Given the description of an element on the screen output the (x, y) to click on. 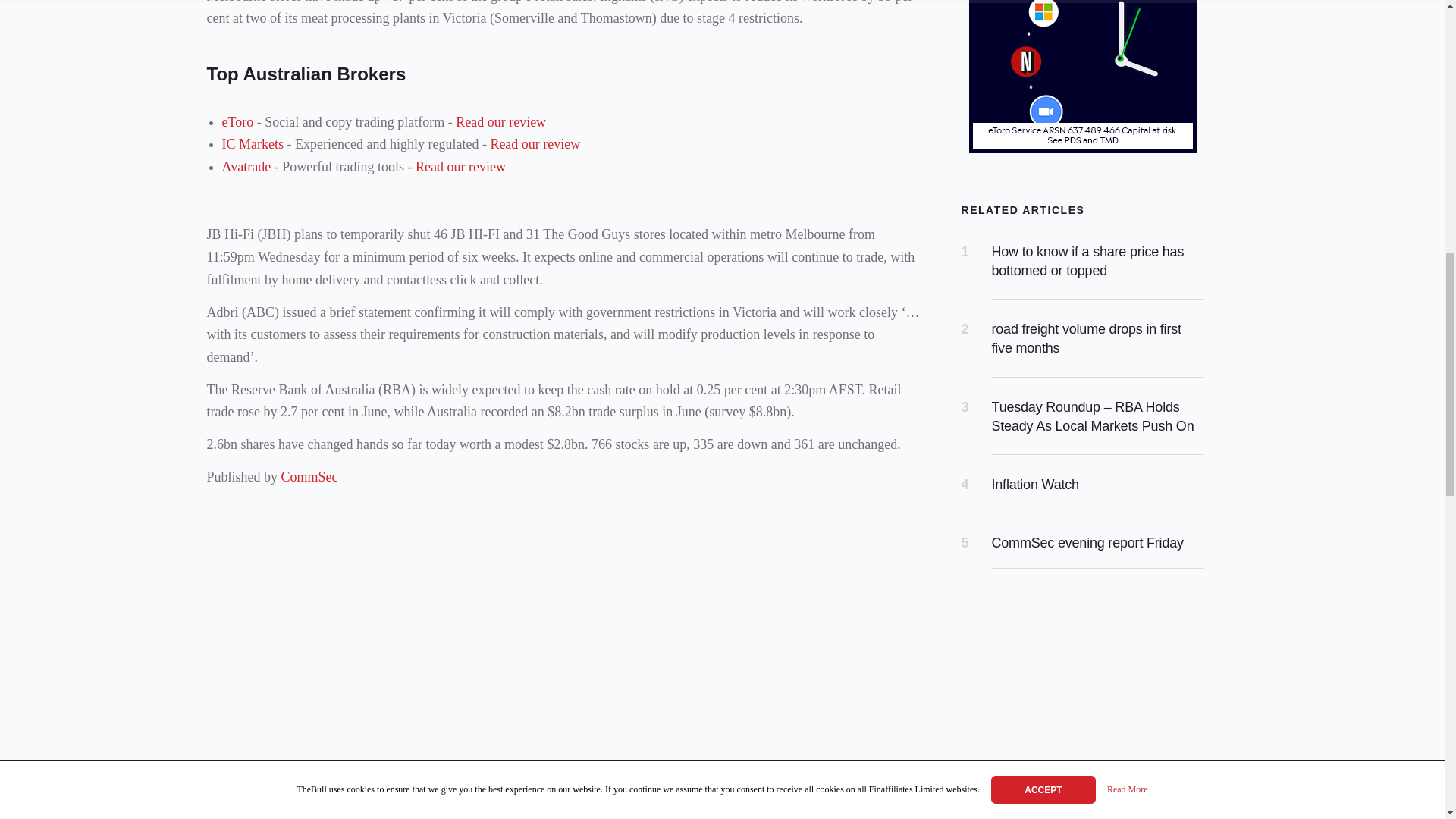
road freight volume drops in first five months (1085, 338)
CommSec evening report Friday (1087, 542)
IC Markets (251, 143)
How to know if a share price has bottomed or topped (1088, 261)
Read our review (500, 121)
CommSec  (311, 476)
Read our review (534, 143)
road freight volume drops in first five months (1085, 338)
CommSec evening report Friday (1087, 542)
eToro (237, 121)
Inflation Watch (1034, 484)
Avatrade (245, 166)
Inflation Watch (1034, 484)
Read our review (459, 166)
How to know if a share price has bottomed or topped (1088, 261)
